Given the description of an element on the screen output the (x, y) to click on. 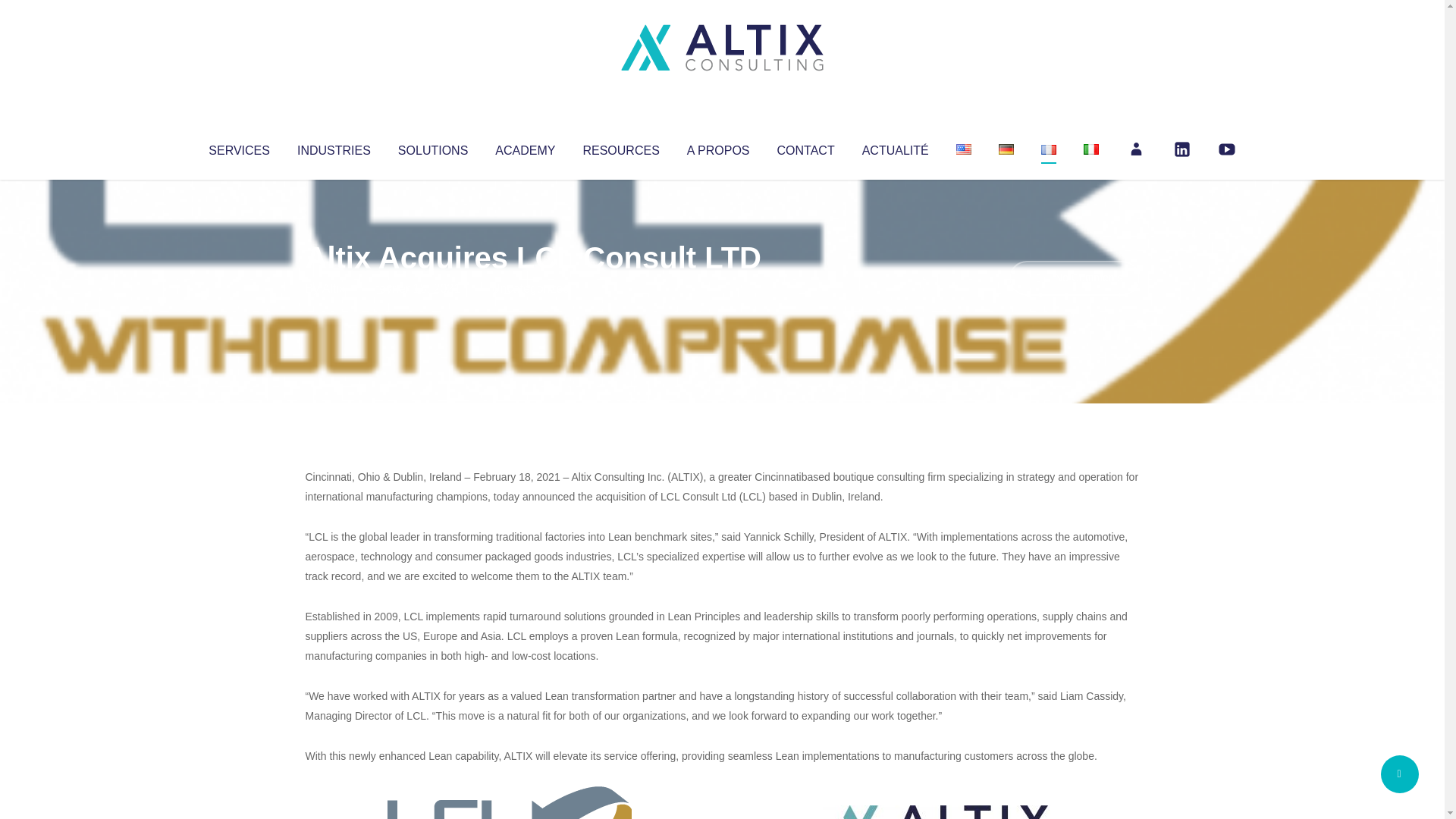
A PROPOS (718, 146)
Articles par Altix (333, 287)
Uncategorized (530, 287)
Altix (333, 287)
ACADEMY (524, 146)
SERVICES (238, 146)
RESOURCES (620, 146)
SOLUTIONS (432, 146)
No Comments (1073, 278)
INDUSTRIES (334, 146)
